Given the description of an element on the screen output the (x, y) to click on. 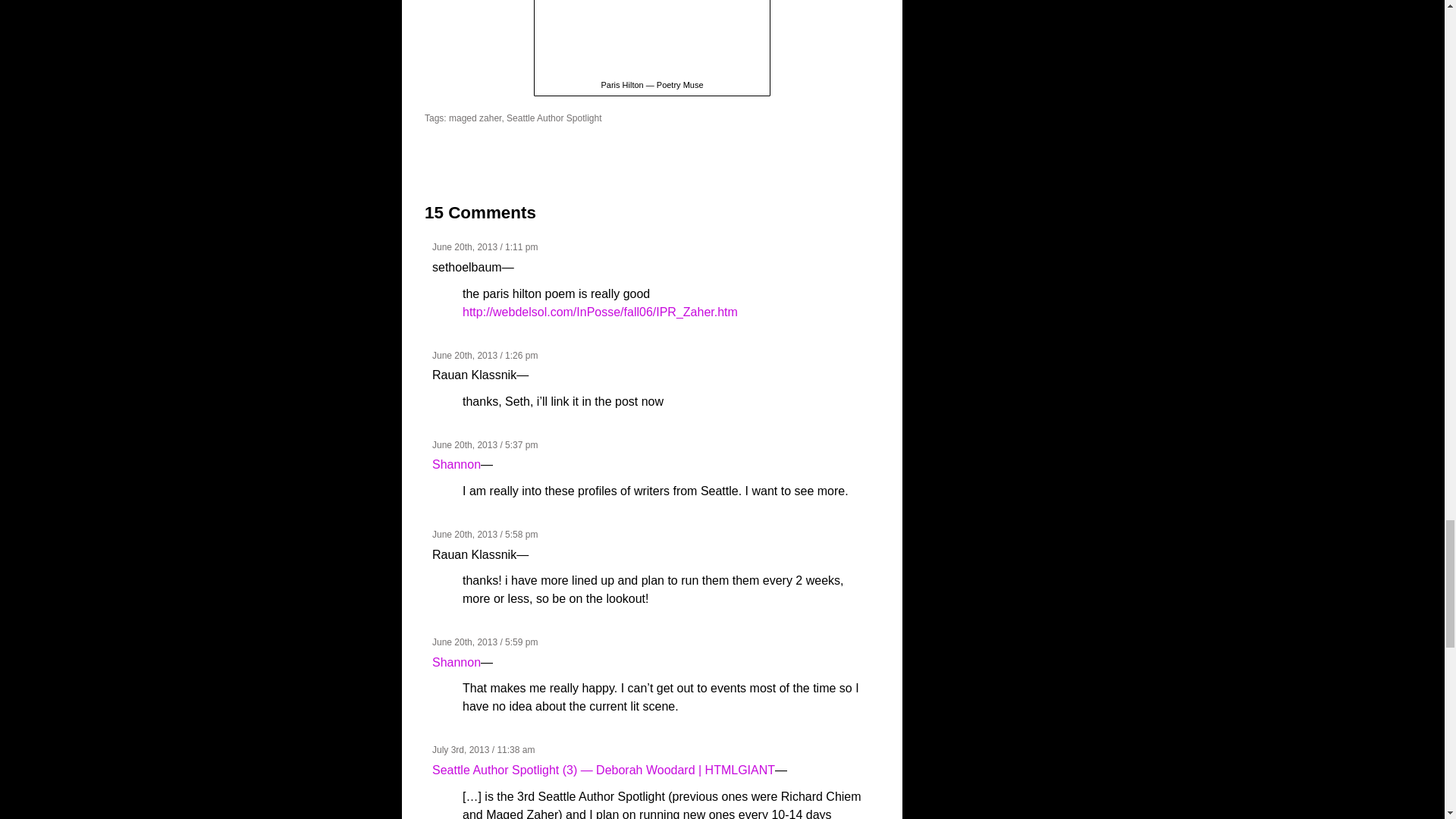
Seattle Author Spotlight (553, 118)
Shannon (456, 662)
maged zaher (474, 118)
Shannon (456, 463)
